Given the description of an element on the screen output the (x, y) to click on. 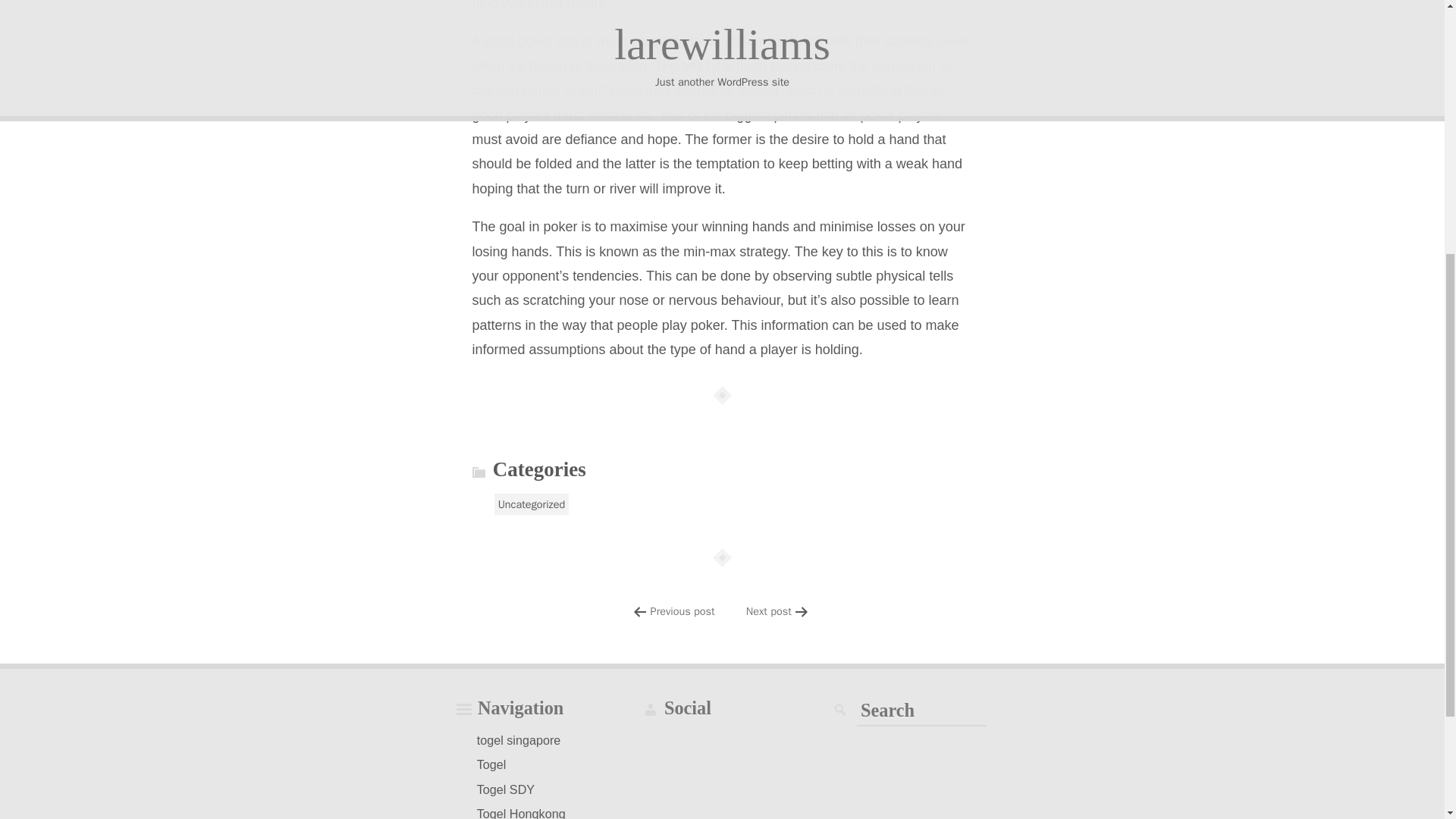
Previous post (682, 611)
Next post (768, 611)
Togel SDY (505, 789)
Togel (491, 763)
Uncategorized (532, 504)
togel singapore (518, 740)
